Given the description of an element on the screen output the (x, y) to click on. 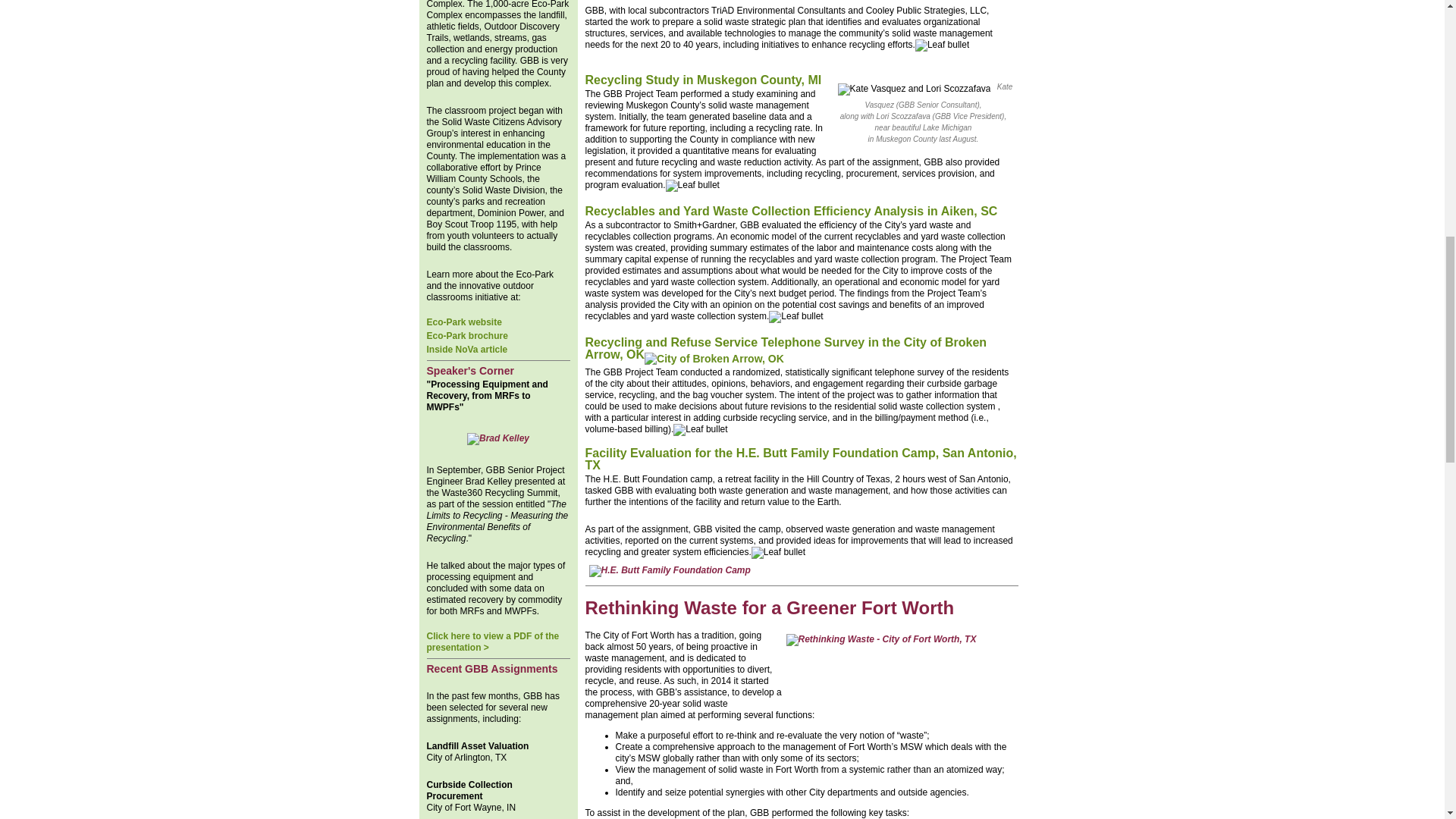
Eco-Park website (463, 321)
Eco-Park brochure (466, 335)
Inside NoVa article (466, 348)
